Given the description of an element on the screen output the (x, y) to click on. 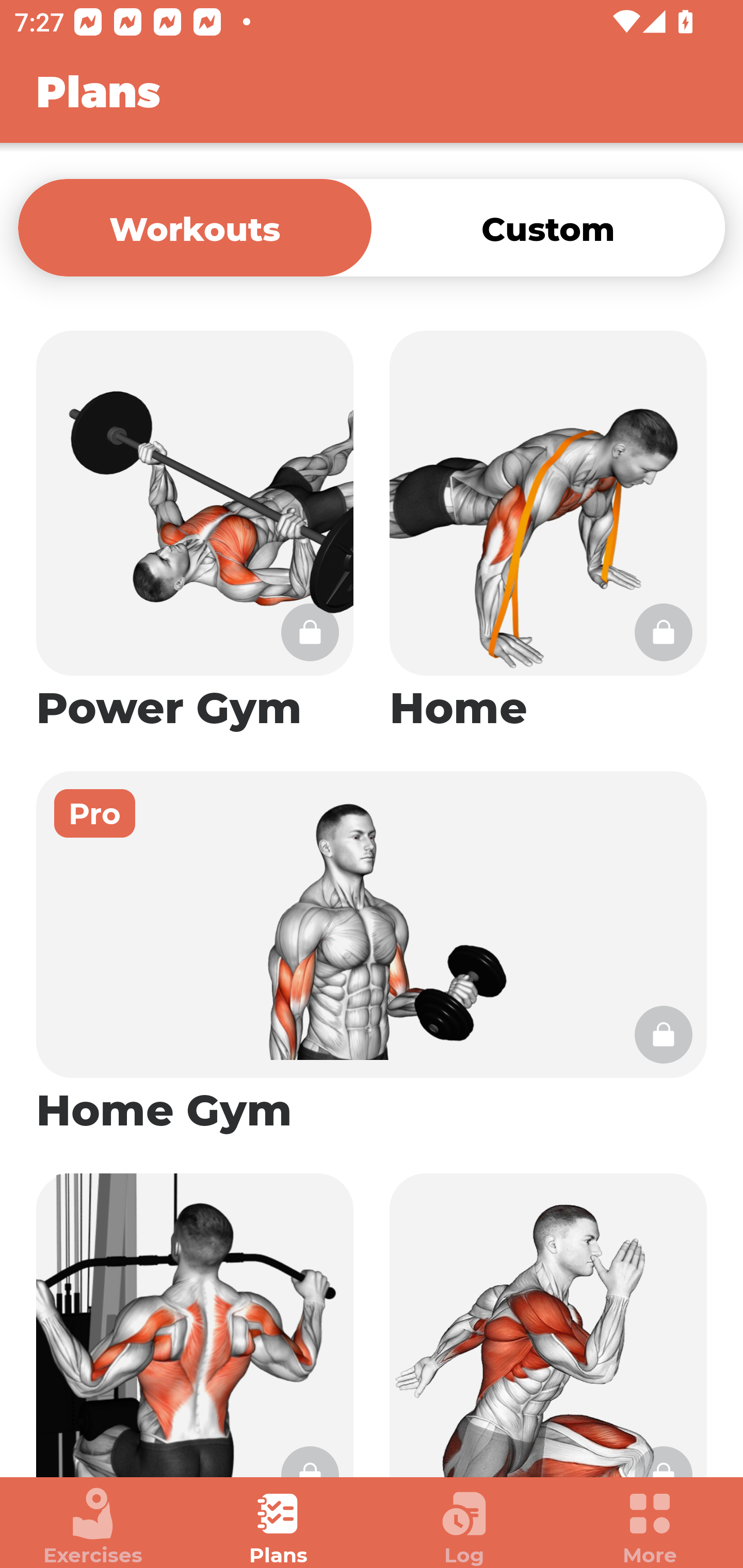
Workouts (194, 226)
Custom (548, 226)
Power Gym (194, 532)
Home (548, 532)
Pro Home Gym (371, 953)
Exercises (92, 1527)
Plans (278, 1527)
Log (464, 1527)
More (650, 1527)
